Given the description of an element on the screen output the (x, y) to click on. 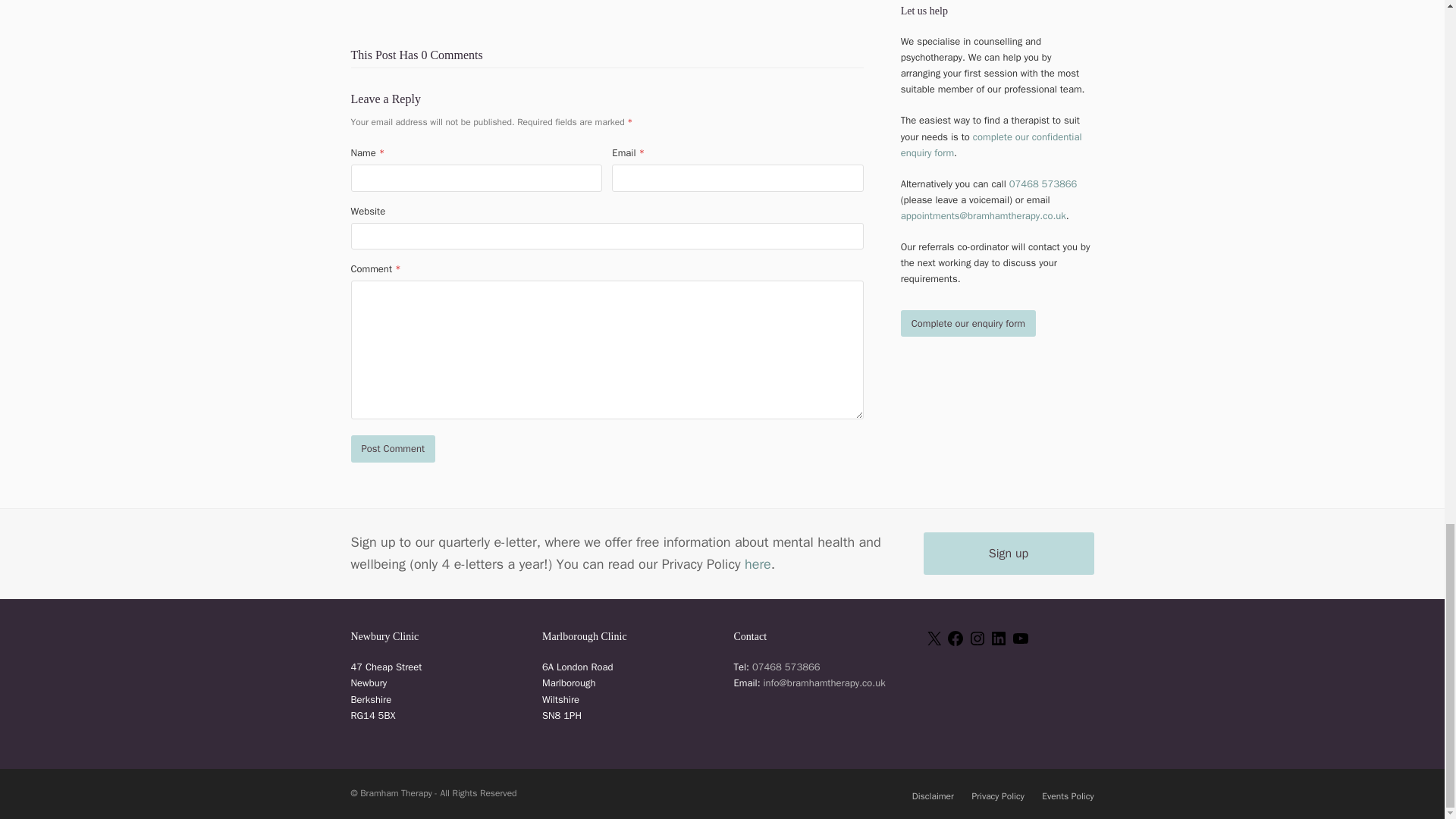
Post Comment (392, 447)
